Given the description of an element on the screen output the (x, y) to click on. 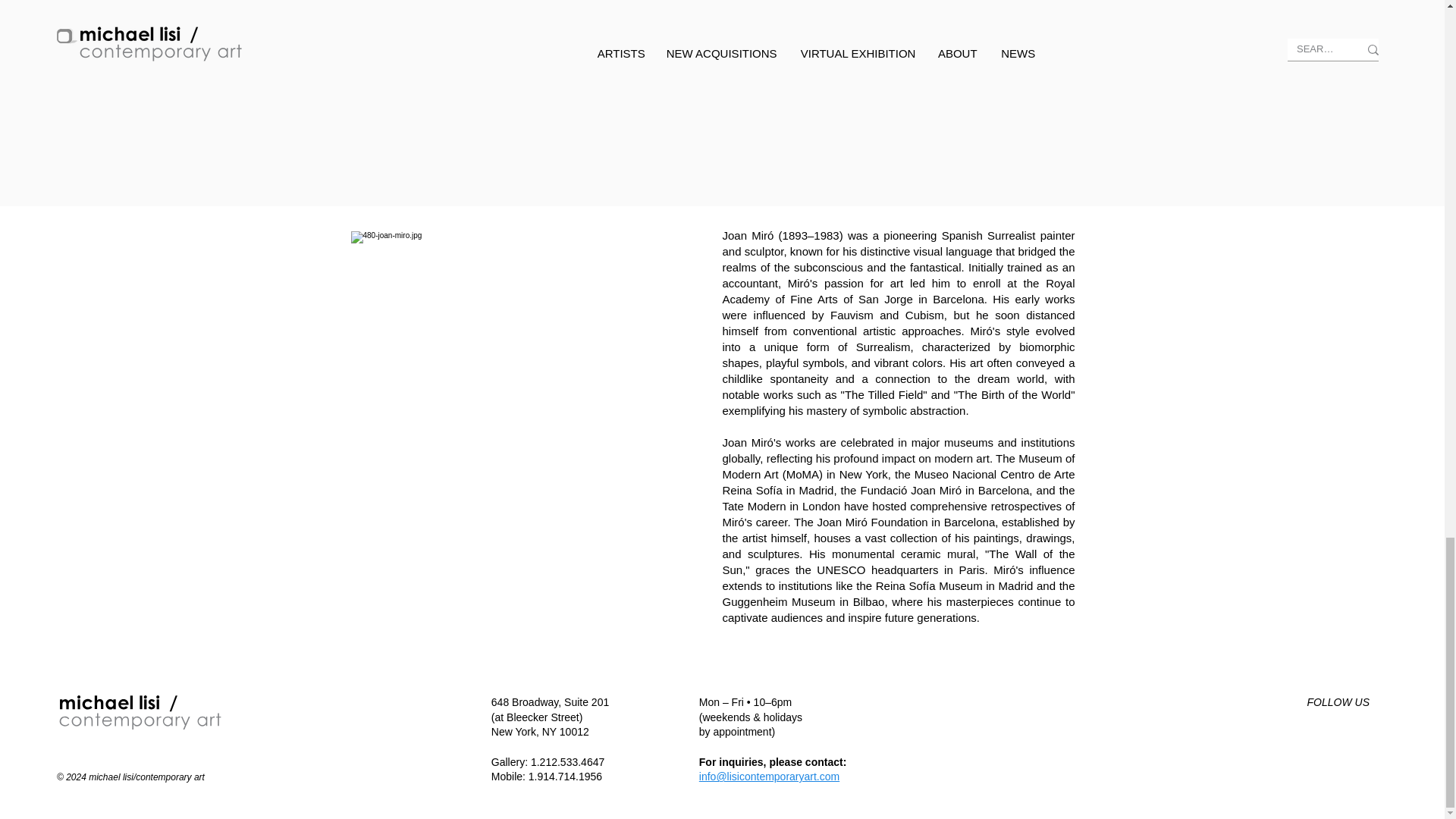
FOLLOW US (1338, 702)
